Given the description of an element on the screen output the (x, y) to click on. 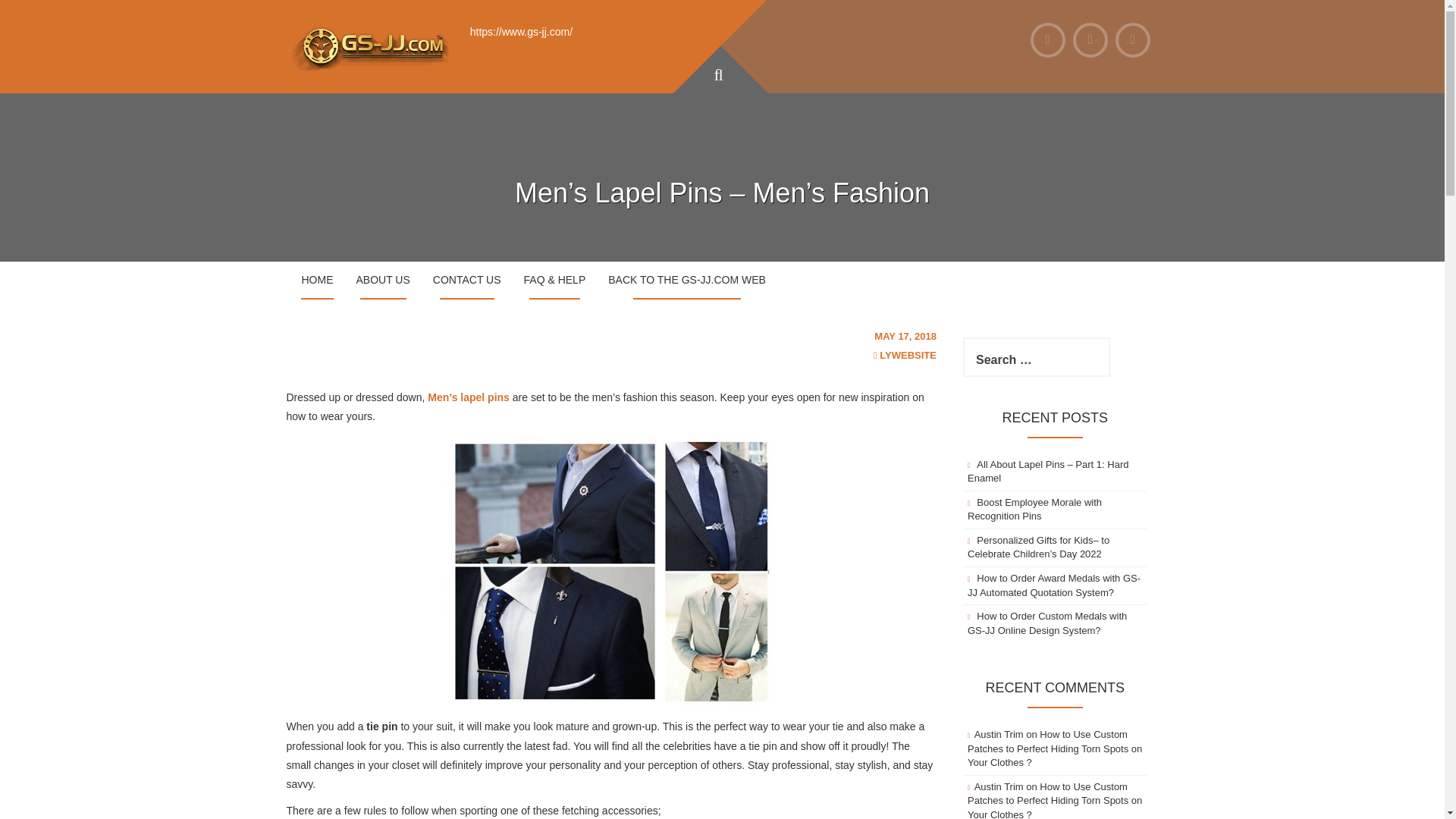
MAY 17, 2018 (905, 336)
LYWEBSITE (907, 355)
ABOUT US (381, 280)
HOME (316, 280)
CONTACT US (467, 280)
Tie Pins (611, 572)
BACK TO THE GS-JJ.COM WEB (686, 280)
